Given the description of an element on the screen output the (x, y) to click on. 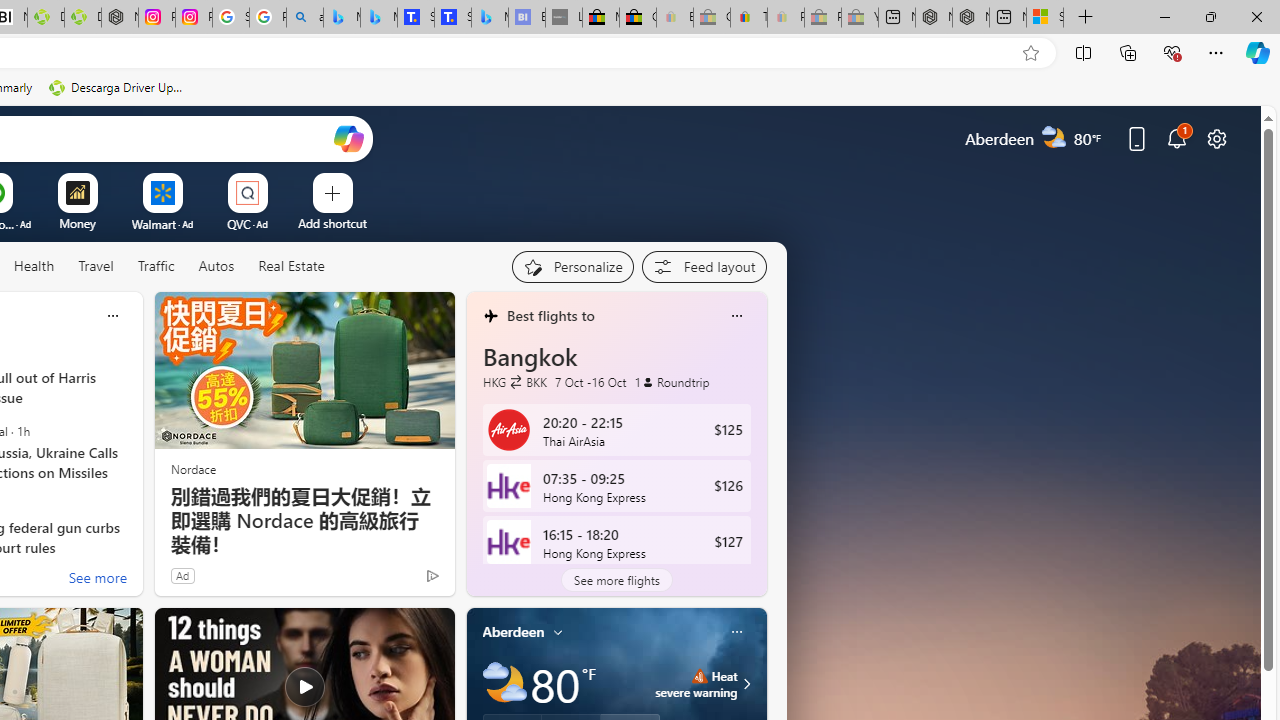
See more flights (616, 579)
Best flights to (550, 315)
Add a site (332, 223)
My location (558, 631)
You're following Newsweek (390, 579)
